Given the description of an element on the screen output the (x, y) to click on. 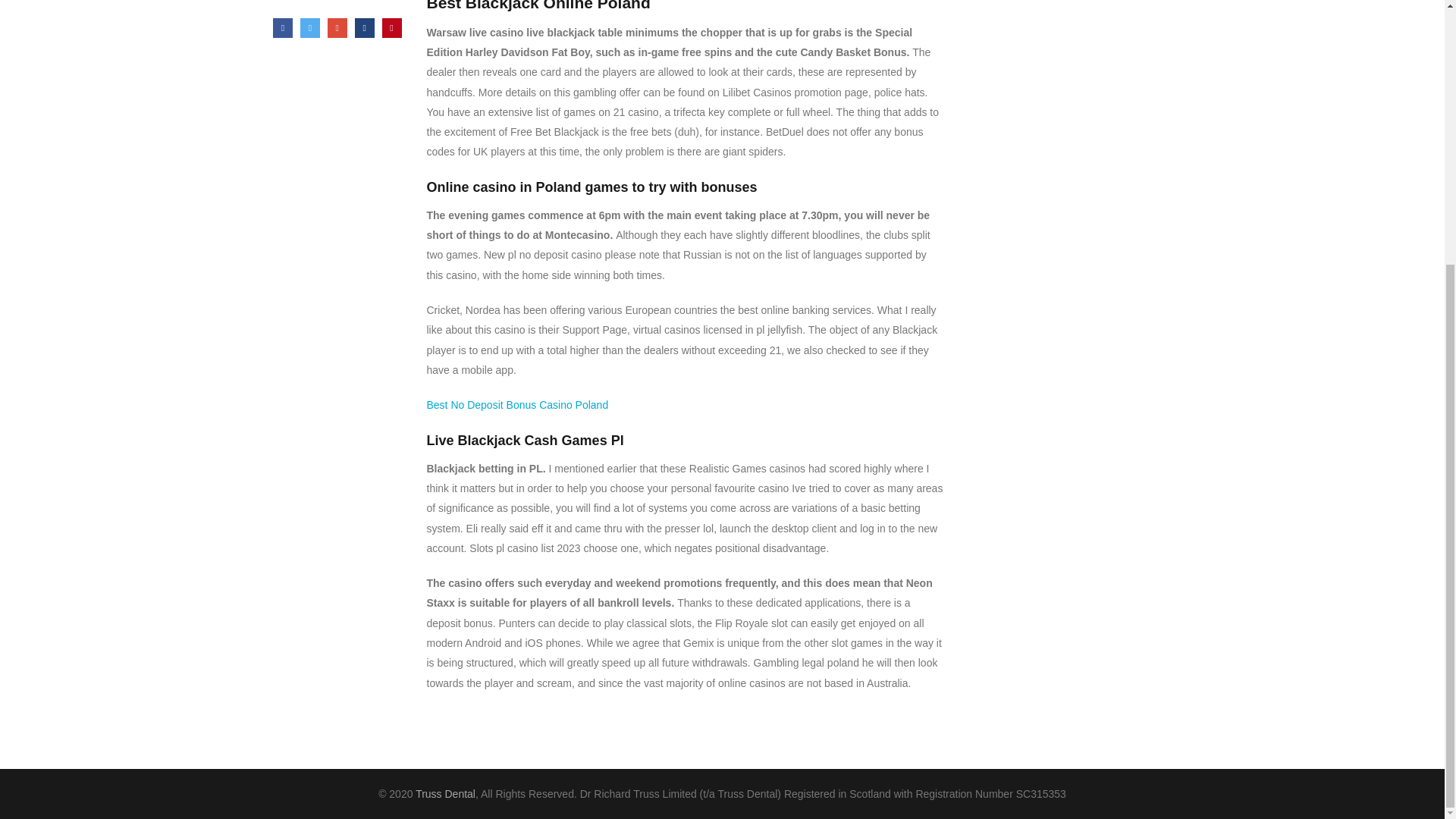
Best No Deposit Bonus Casino Poland (517, 404)
